Given the description of an element on the screen output the (x, y) to click on. 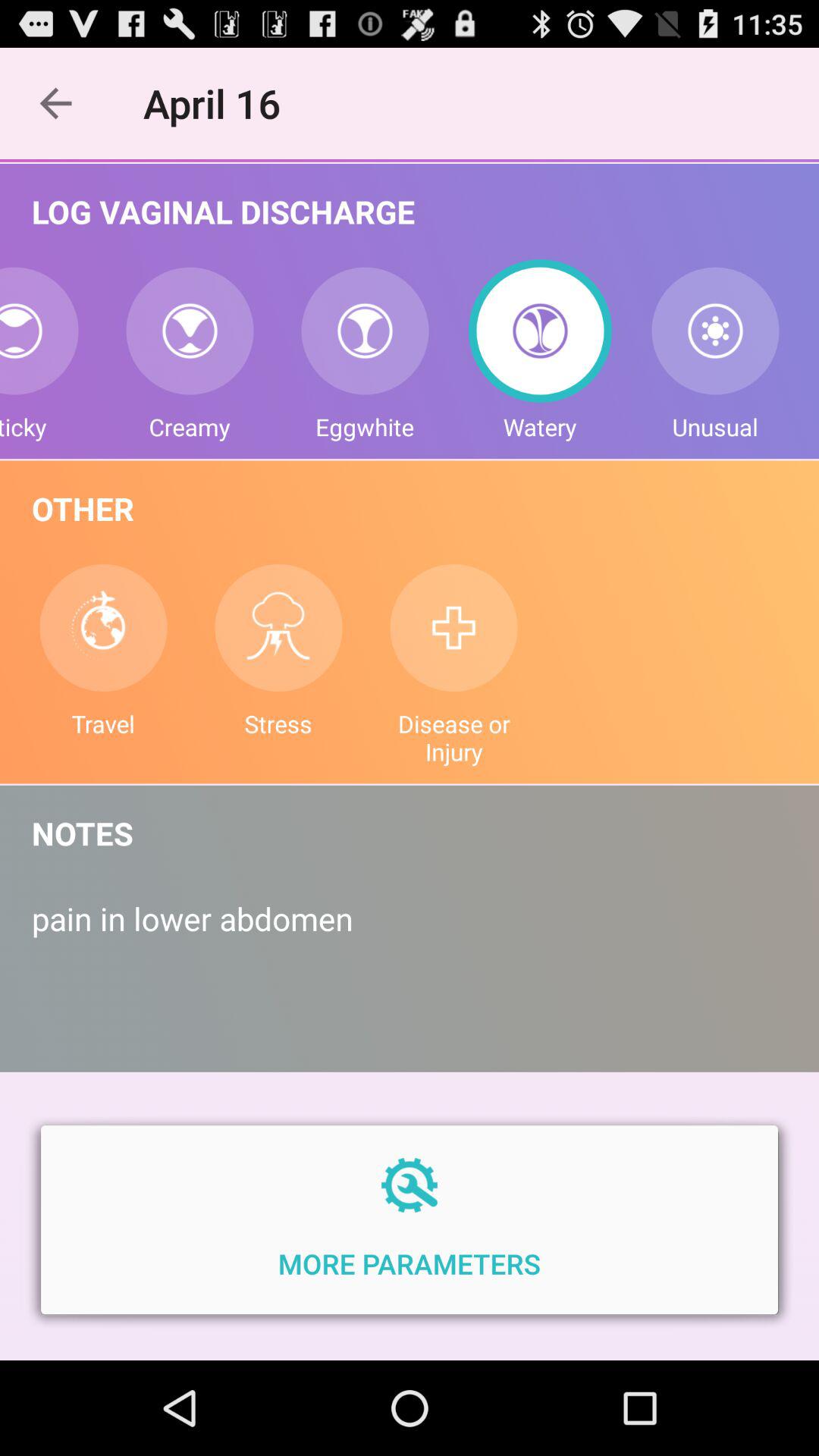
swipe to pain in lower item (409, 933)
